Given the description of an element on the screen output the (x, y) to click on. 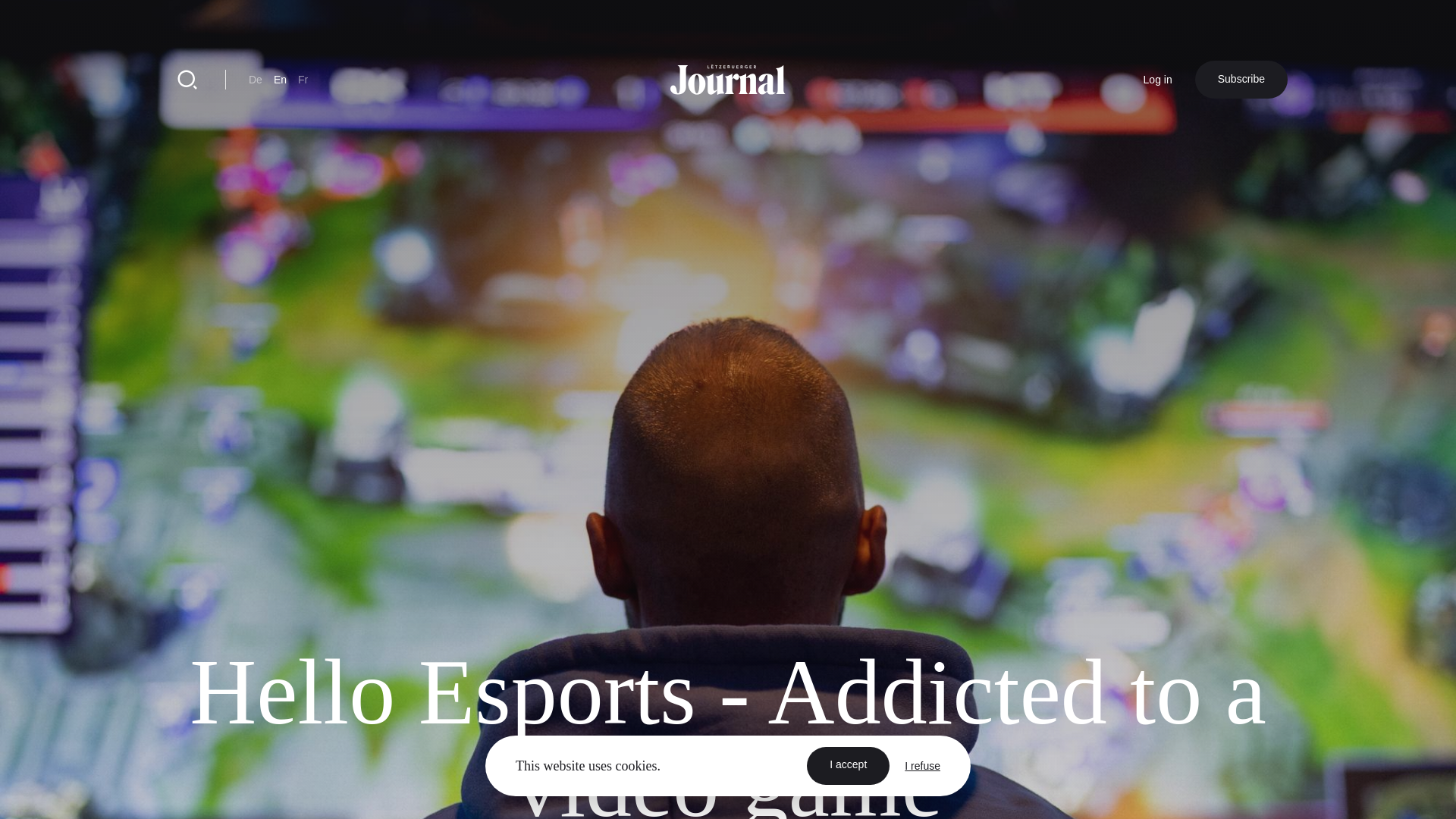
De (255, 79)
En (279, 79)
Log in (1157, 79)
Subscribe (1241, 79)
